Given the description of an element on the screen output the (x, y) to click on. 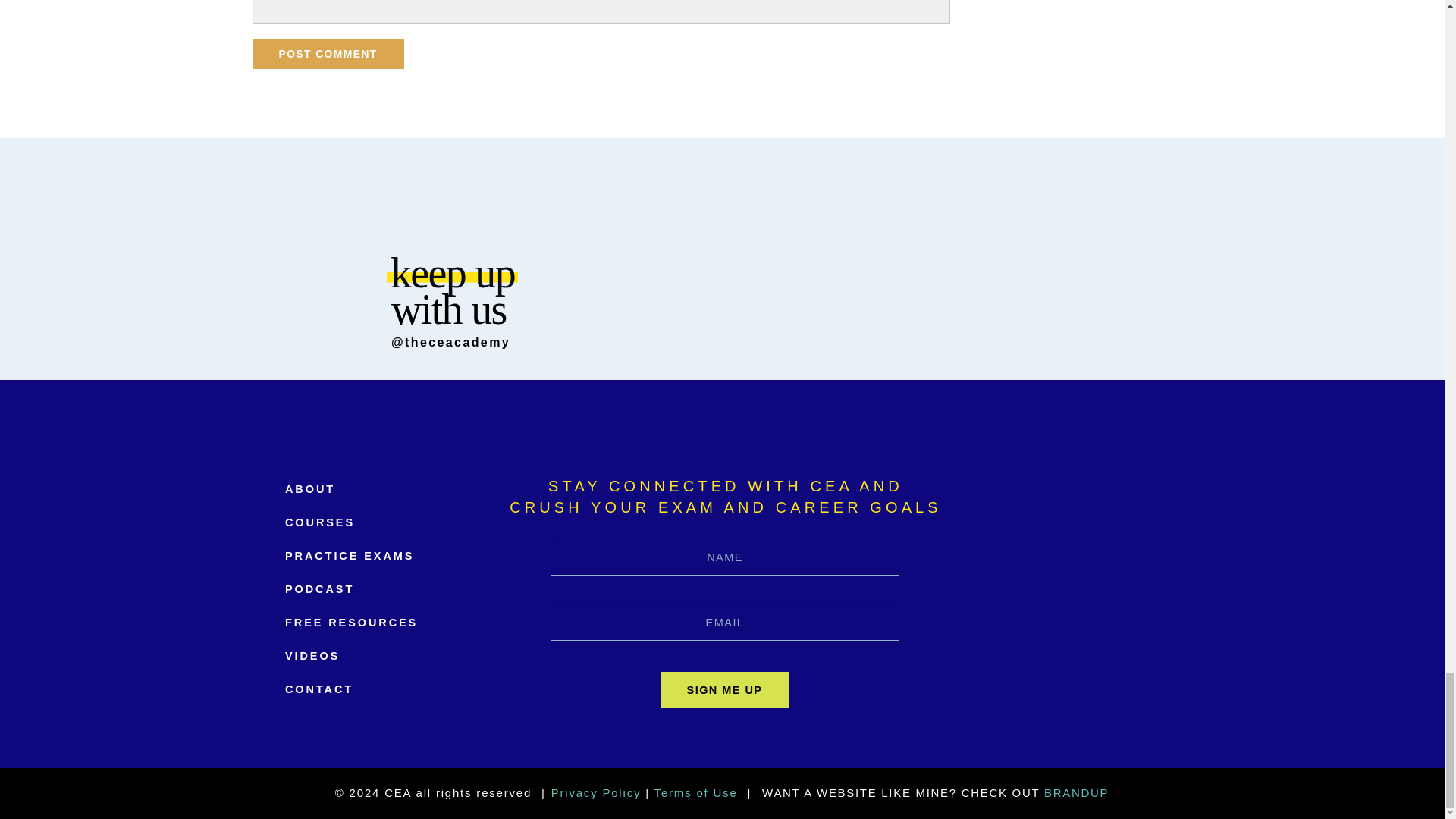
youtube (1143, 626)
Twitter (1048, 626)
Post Comment (327, 53)
SIGN ME UP (725, 689)
